Given the description of an element on the screen output the (x, y) to click on. 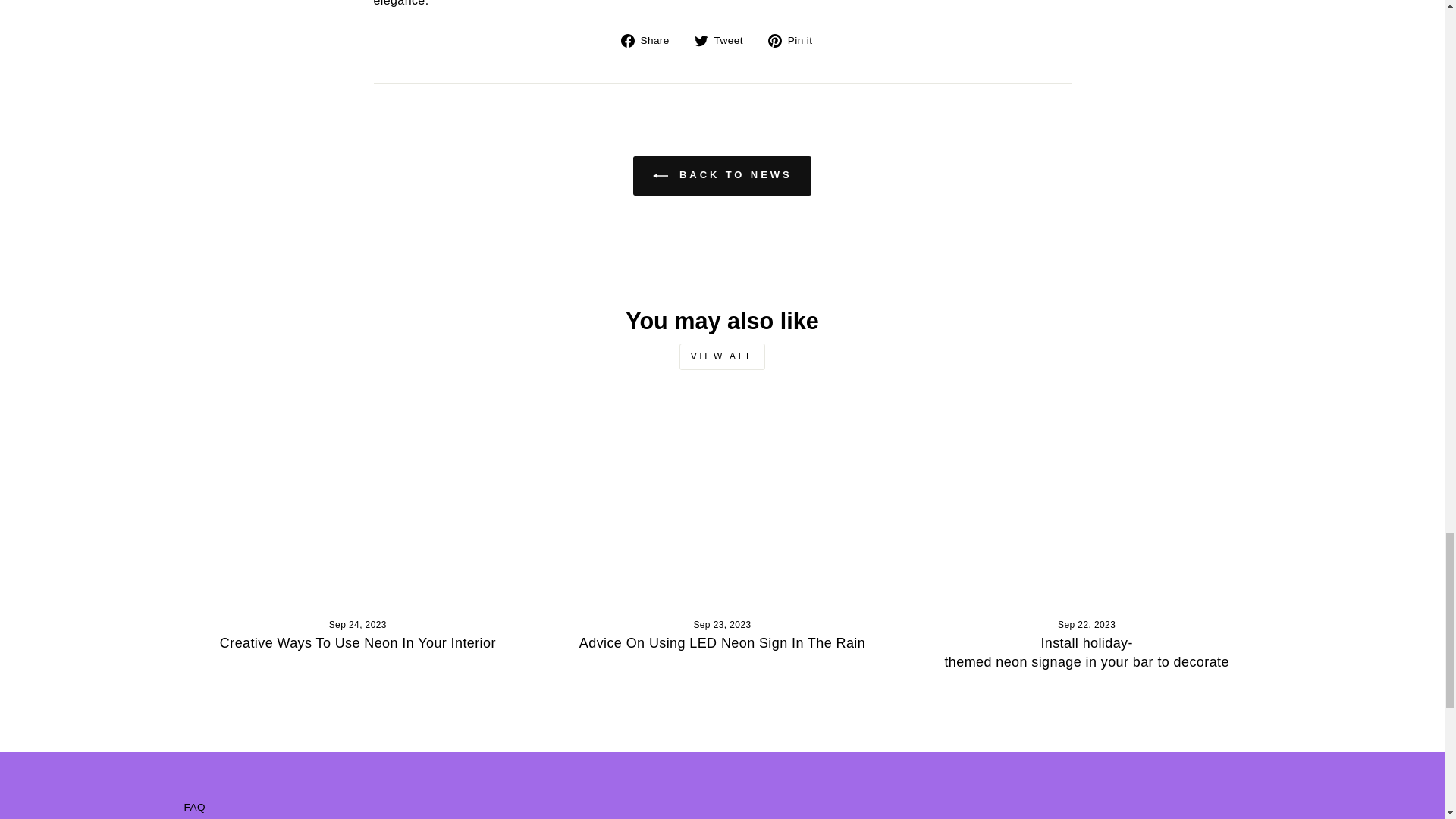
Share on Facebook (651, 39)
Pin on Pinterest (796, 39)
Tweet on Twitter (724, 39)
